Given the description of an element on the screen output the (x, y) to click on. 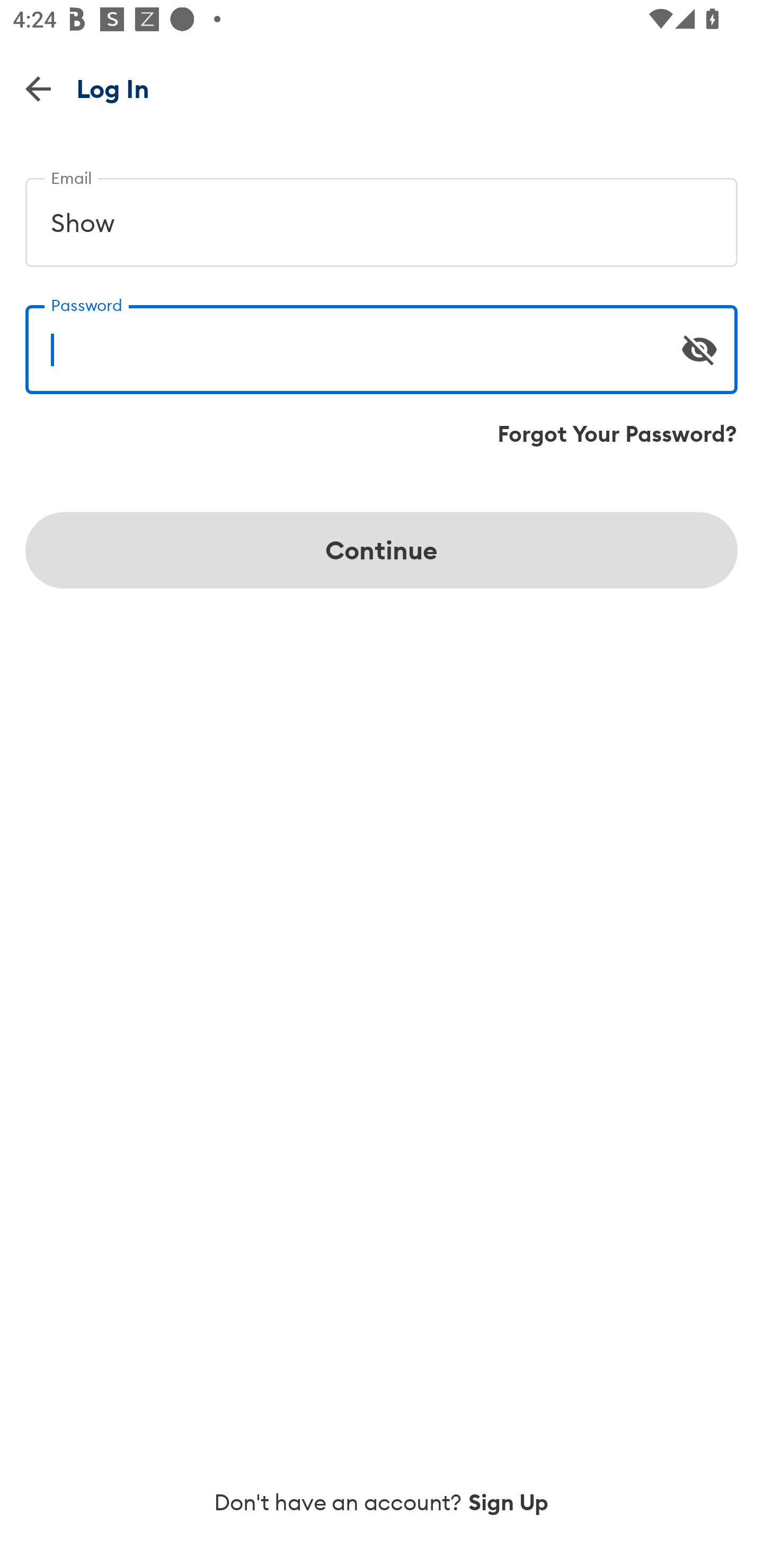
Back (38, 88)
Show Email (381, 215)
Password (381, 342)
Forgot Your Password? (617, 433)
Continue (381, 550)
Sign Up (508, 1502)
